Given the description of an element on the screen output the (x, y) to click on. 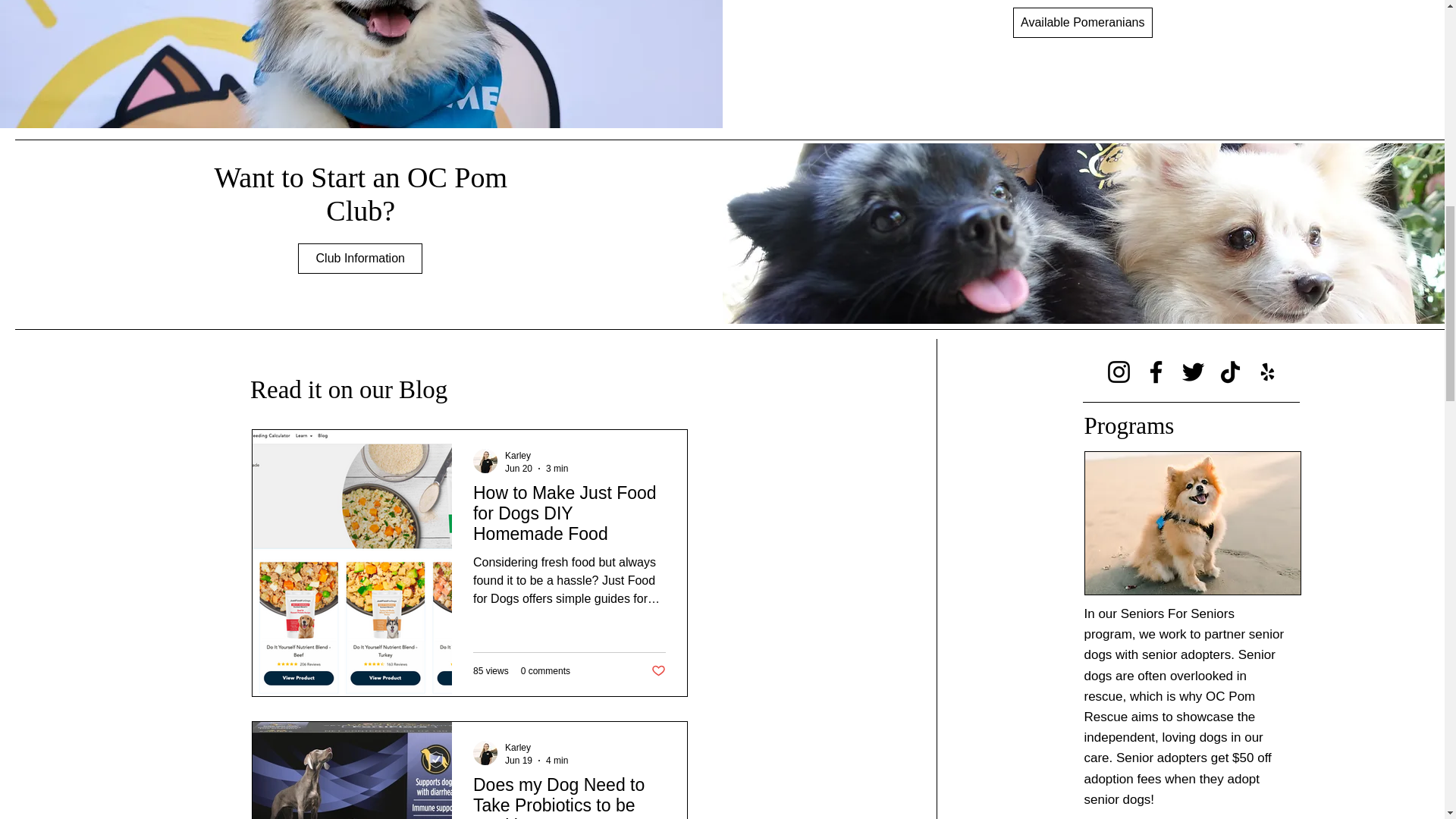
Club Information (360, 258)
Jun 19 (518, 760)
0 comments (545, 670)
Jun 20 (518, 467)
Karley (518, 455)
Available Pomeranians (1083, 22)
Post not marked as liked (657, 671)
4 min (556, 760)
How to Make Just Food for Dogs DIY Homemade Food (569, 518)
Does my Dog Need to Take Probiotics to be Healthy? (569, 796)
3 min (556, 467)
Karley (518, 747)
